Given the description of an element on the screen output the (x, y) to click on. 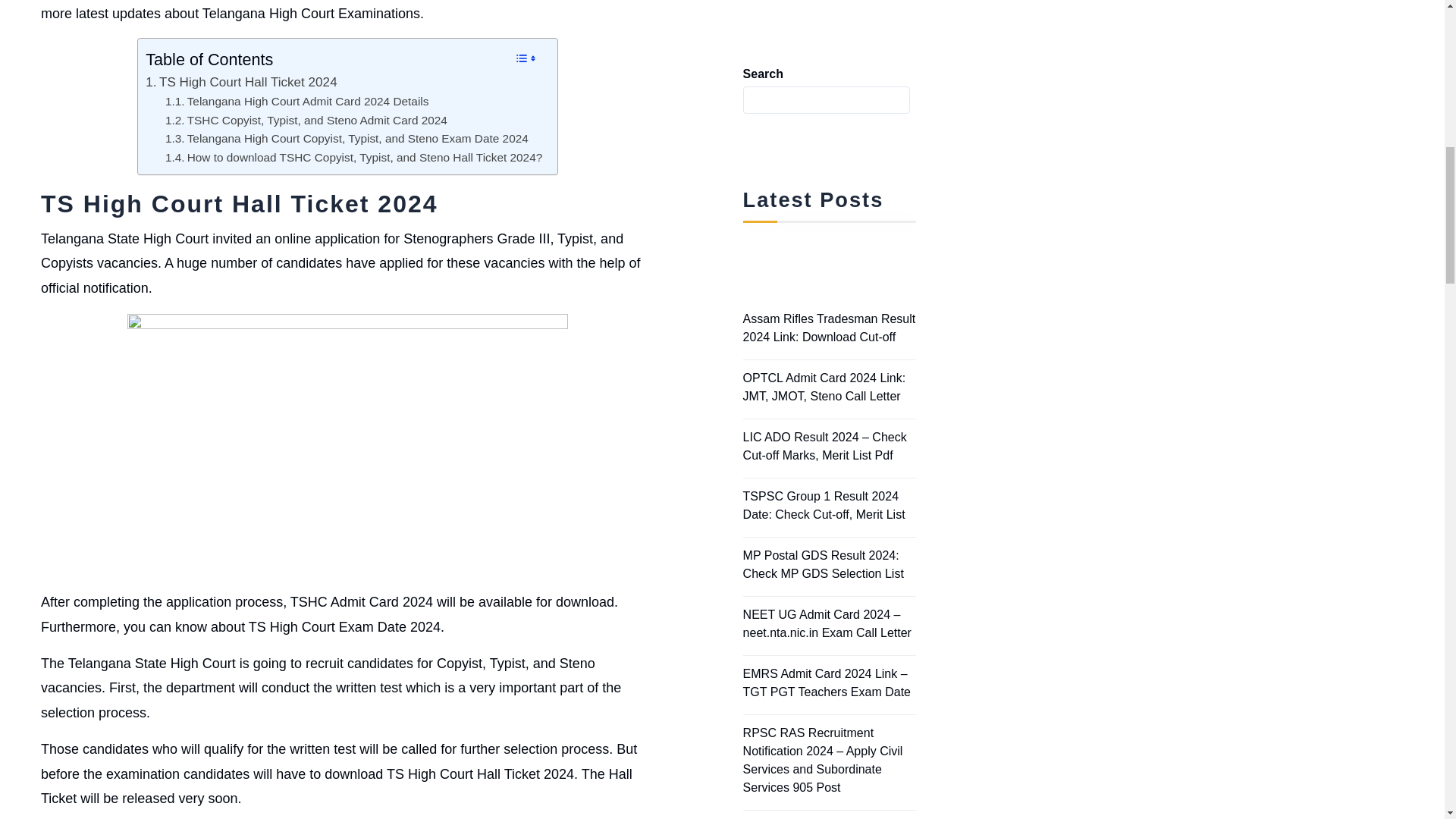
TS High Court Hall Ticket 2024 (240, 82)
TSHC Copyist, Typist, and Steno Admit Card 2024 (305, 120)
TS High Court Hall Ticket 2024 (240, 82)
Telangana High Court Admit Card 2024 Details (297, 101)
Telangana High Court Admit Card 2024 Details (297, 101)
TSHC Copyist, Typist, and Steno Admit Card 2024 (305, 120)
